Given the description of an element on the screen output the (x, y) to click on. 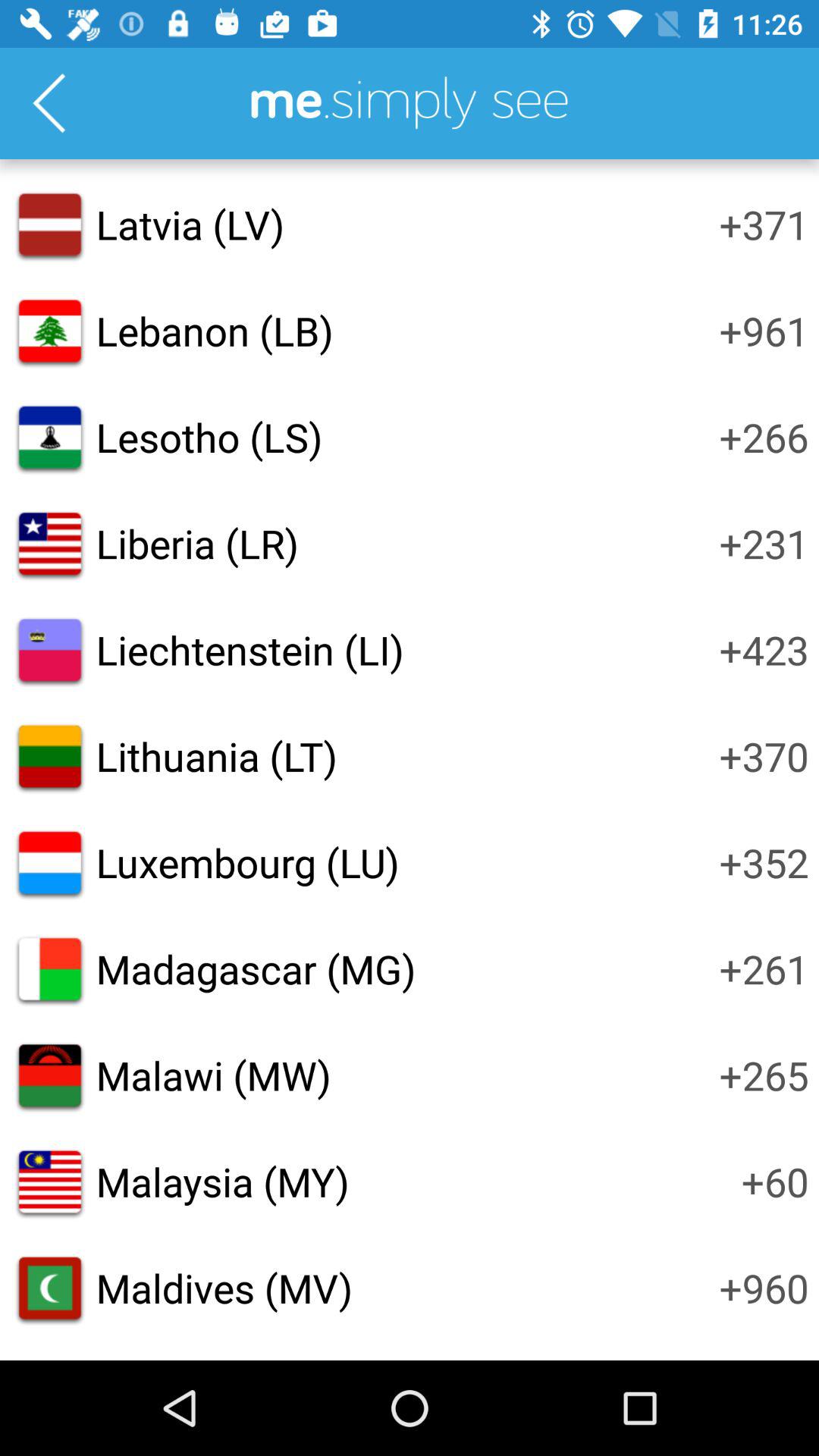
launch icon to the left of +370 (216, 755)
